Given the description of an element on the screen output the (x, y) to click on. 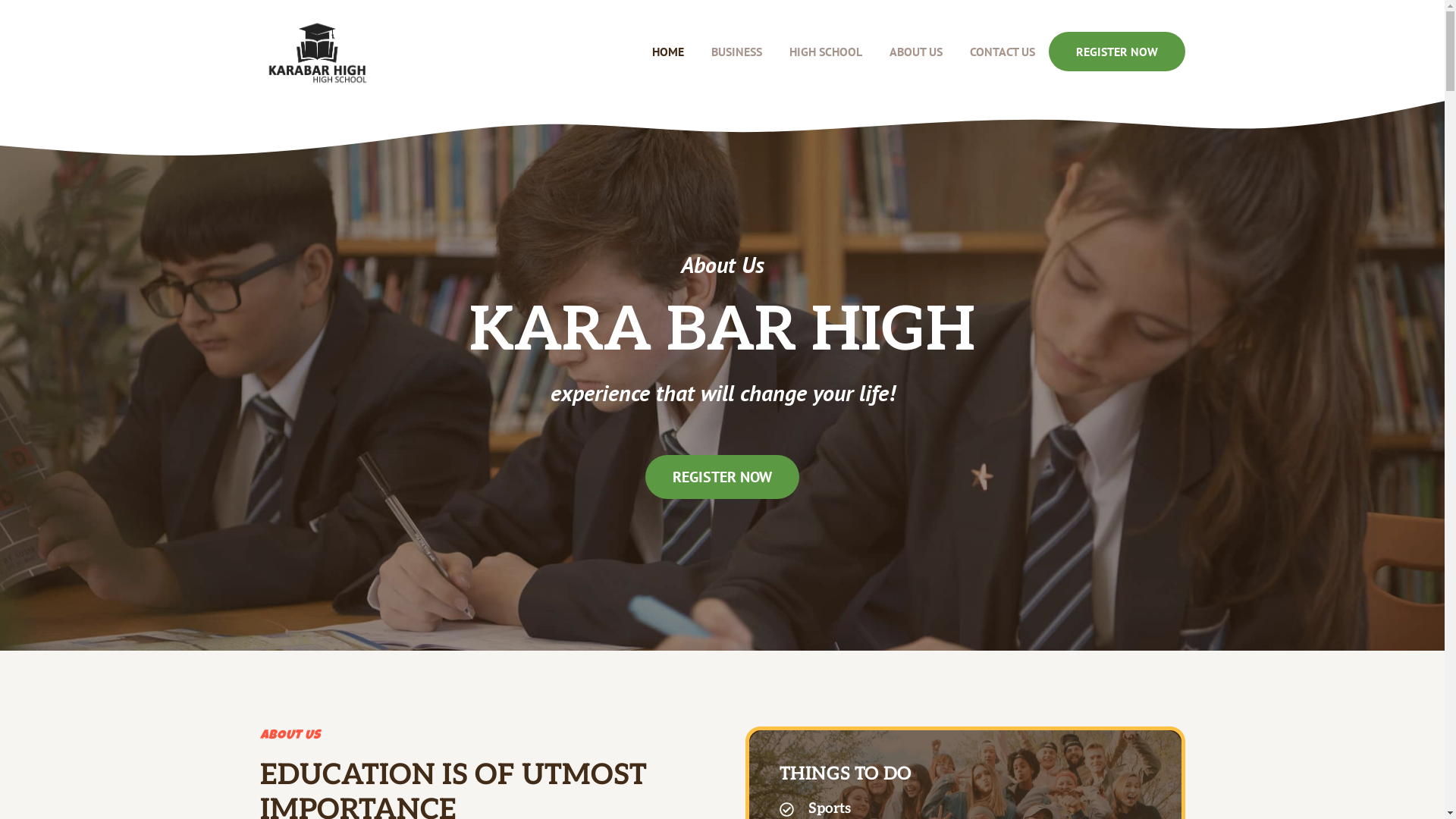
HOME Element type: text (667, 51)
BUSINESS Element type: text (736, 51)
REGISTER NOW Element type: text (1116, 51)
Karabar High Element type: hover (316, 51)
ABOUT US Element type: text (915, 51)
HIGH SCHOOL Element type: text (825, 51)
CONTACT US Element type: text (1001, 51)
REGISTER NOW Element type: text (722, 476)
Karabar High Element type: hover (316, 50)
